Given the description of an element on the screen output the (x, y) to click on. 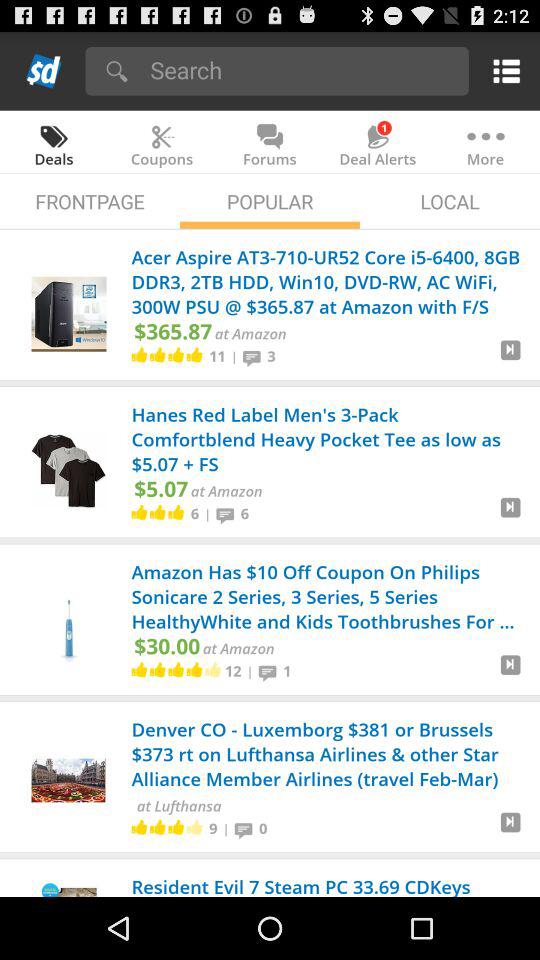
open the item above the 9 (178, 805)
